Given the description of an element on the screen output the (x, y) to click on. 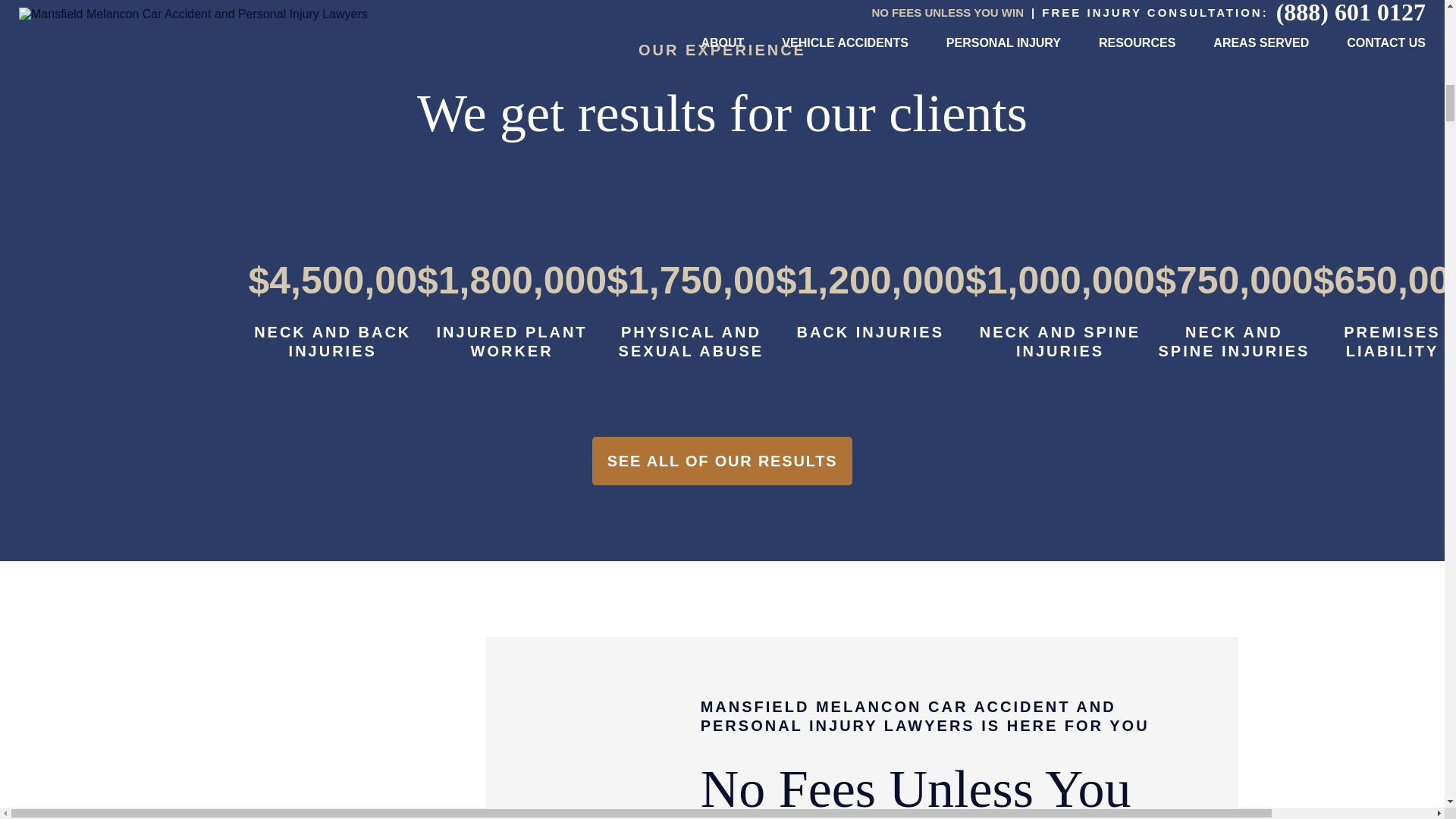
NECK AND BACK INJURIES (331, 341)
INJURED PLANT WORKER (512, 341)
